Given the description of an element on the screen output the (x, y) to click on. 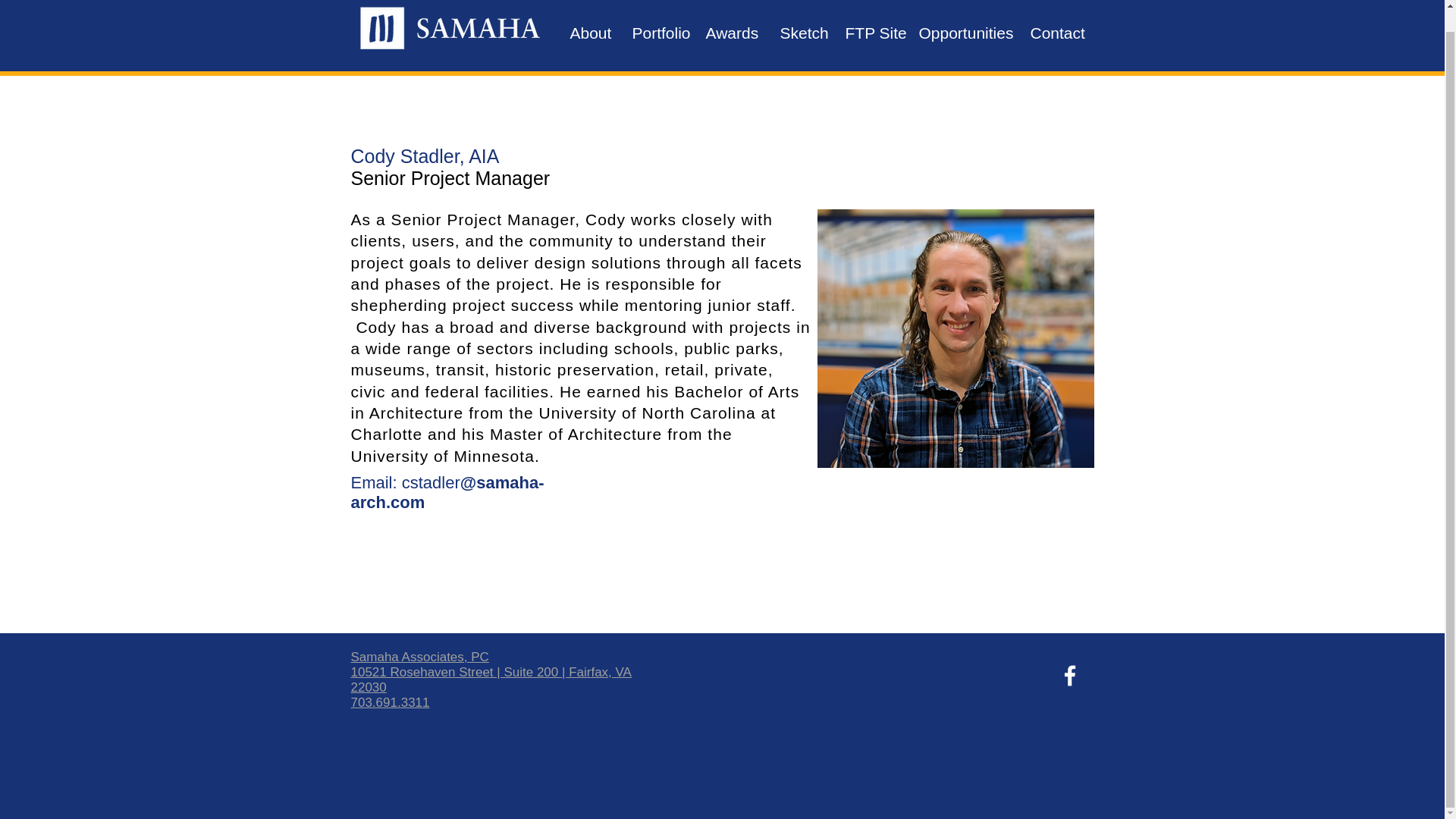
703.691.3311 (389, 702)
Samaha Associates, PC (418, 657)
Portfolio (657, 33)
Email: (373, 482)
About (588, 33)
Contact (1056, 33)
Opportunities (962, 33)
Awards (731, 33)
Sketch (801, 33)
FTP Site (870, 33)
